Given the description of an element on the screen output the (x, y) to click on. 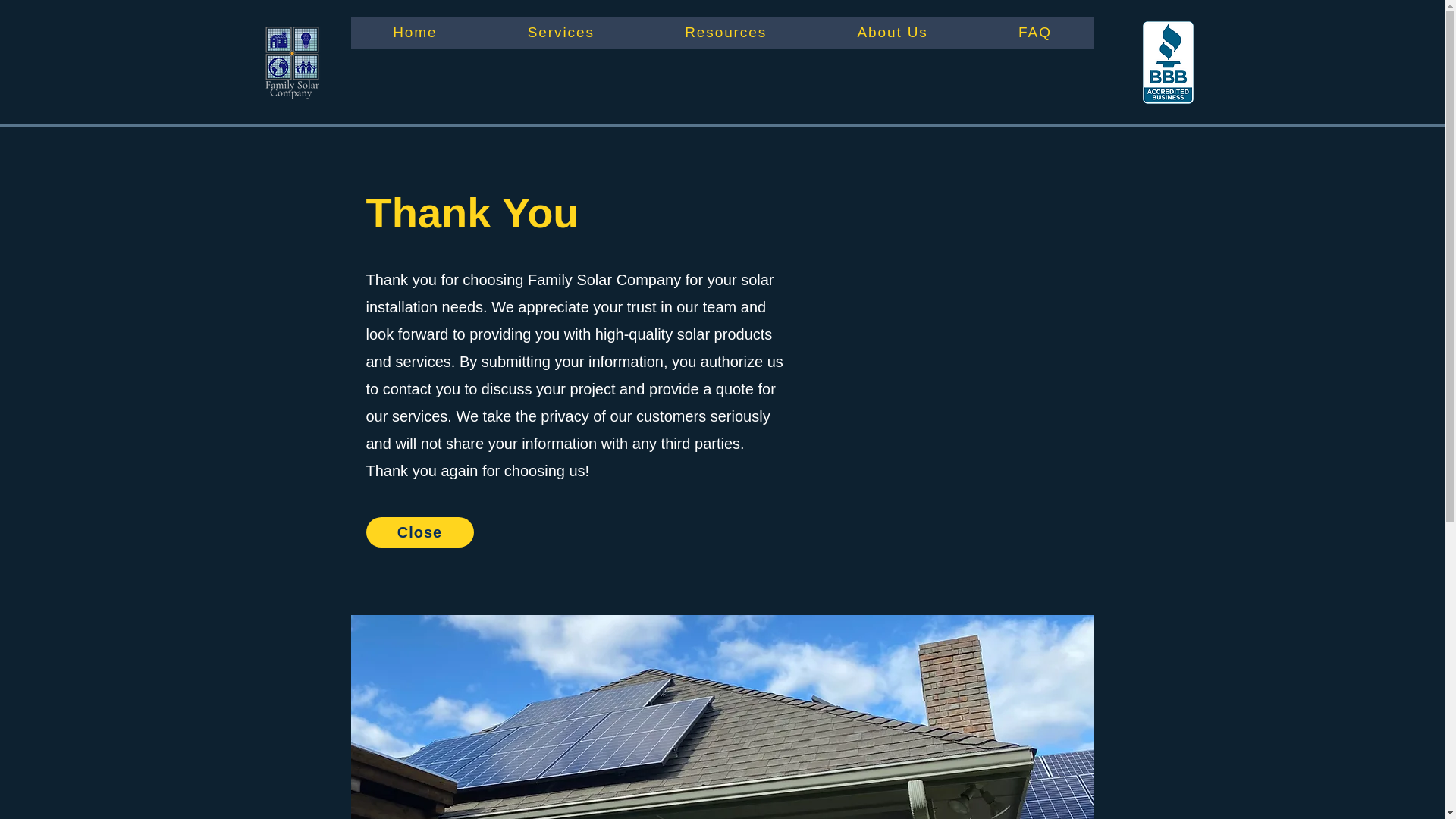
Close (419, 531)
FAQ (1034, 32)
About Us (893, 32)
